Given the description of an element on the screen output the (x, y) to click on. 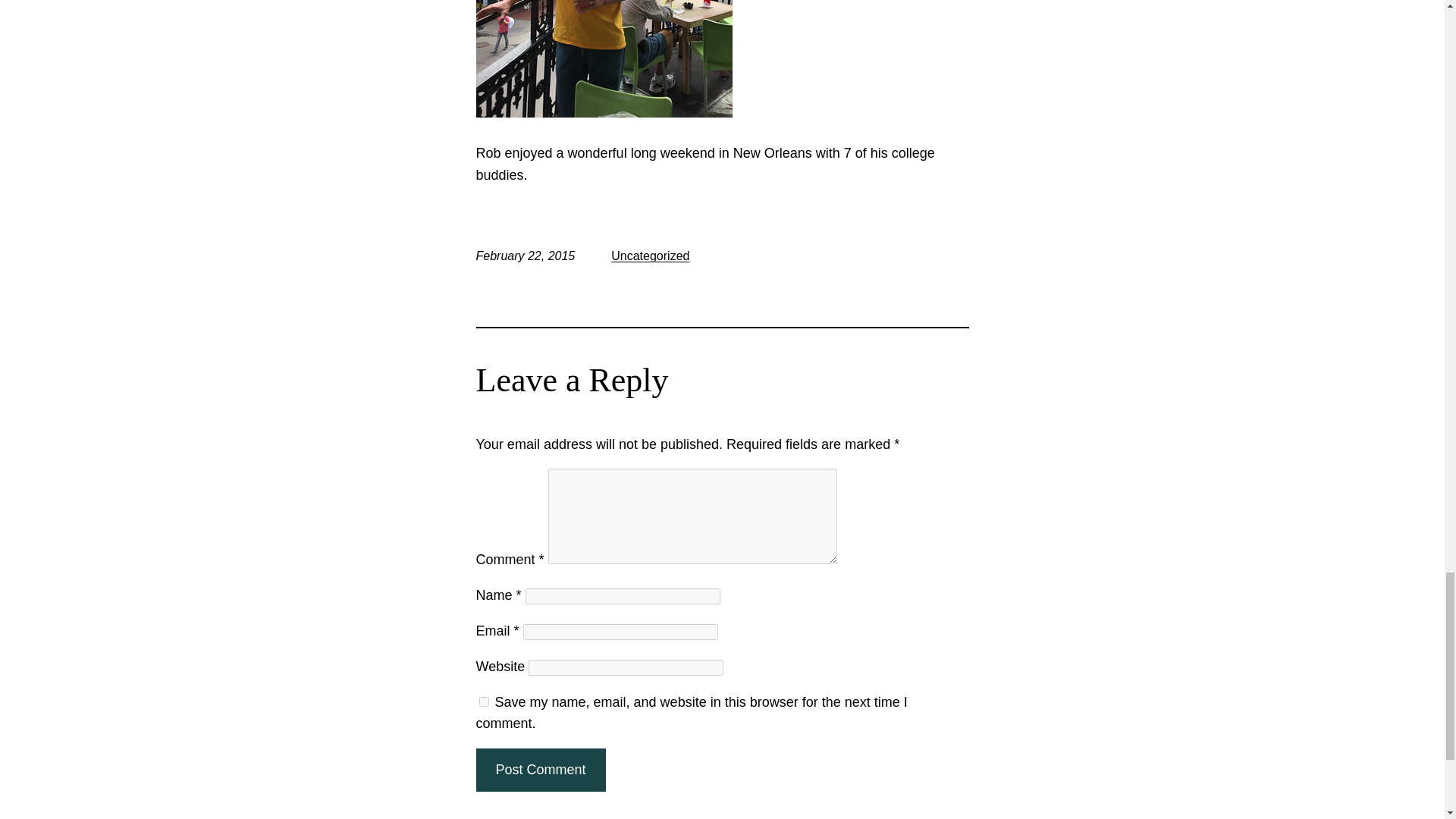
yes (484, 700)
Uncategorized (649, 255)
Post Comment (540, 769)
Post Comment (540, 769)
